Given the description of an element on the screen output the (x, y) to click on. 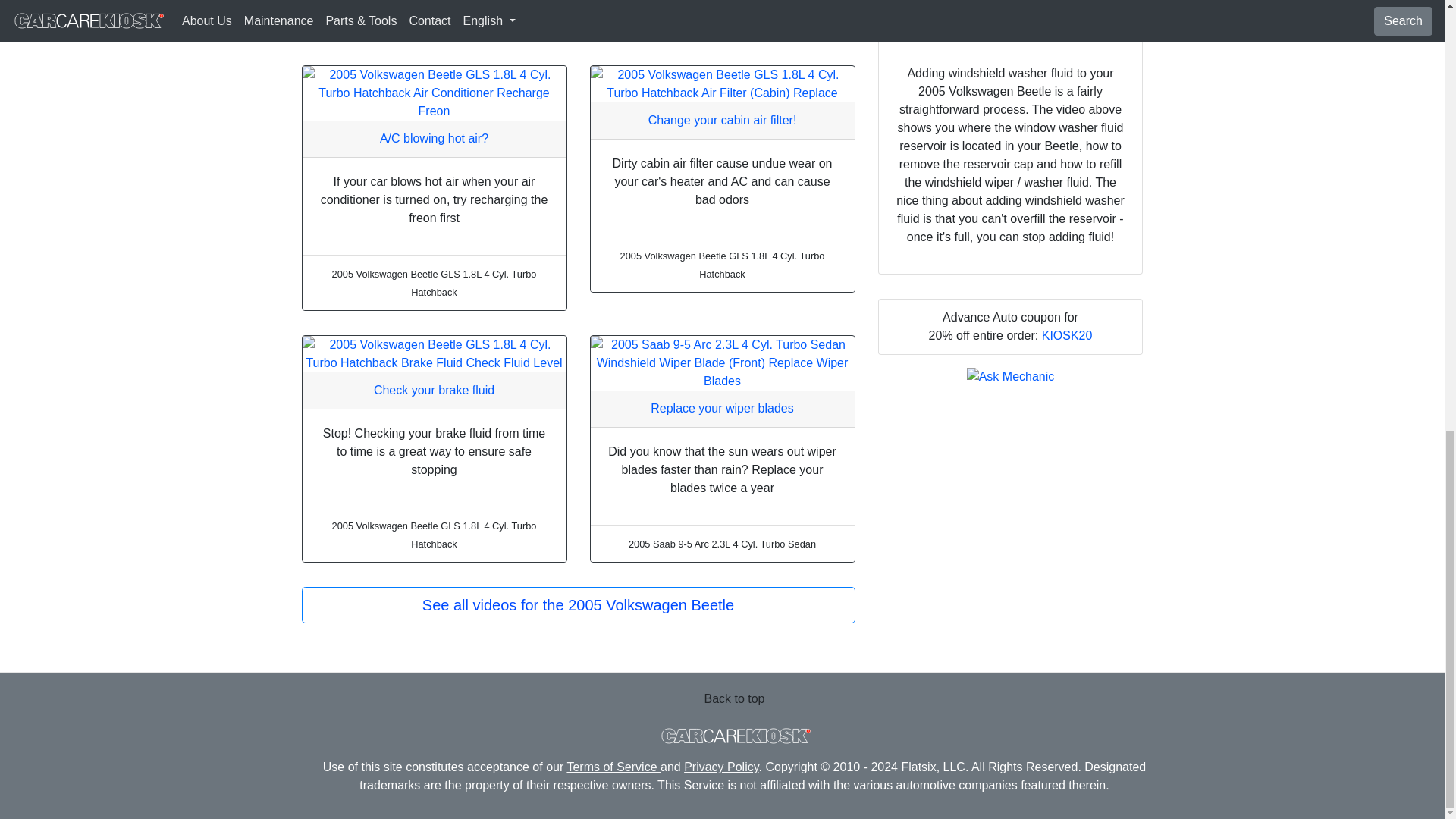
Change your cabin air filter! (721, 119)
Check your brake fluid (434, 390)
KIOSK20 (1067, 335)
See all videos for the 2005 Volkswagen Beetle (578, 605)
Back to top (734, 698)
Replace your wiper blades (721, 408)
